Given the description of an element on the screen output the (x, y) to click on. 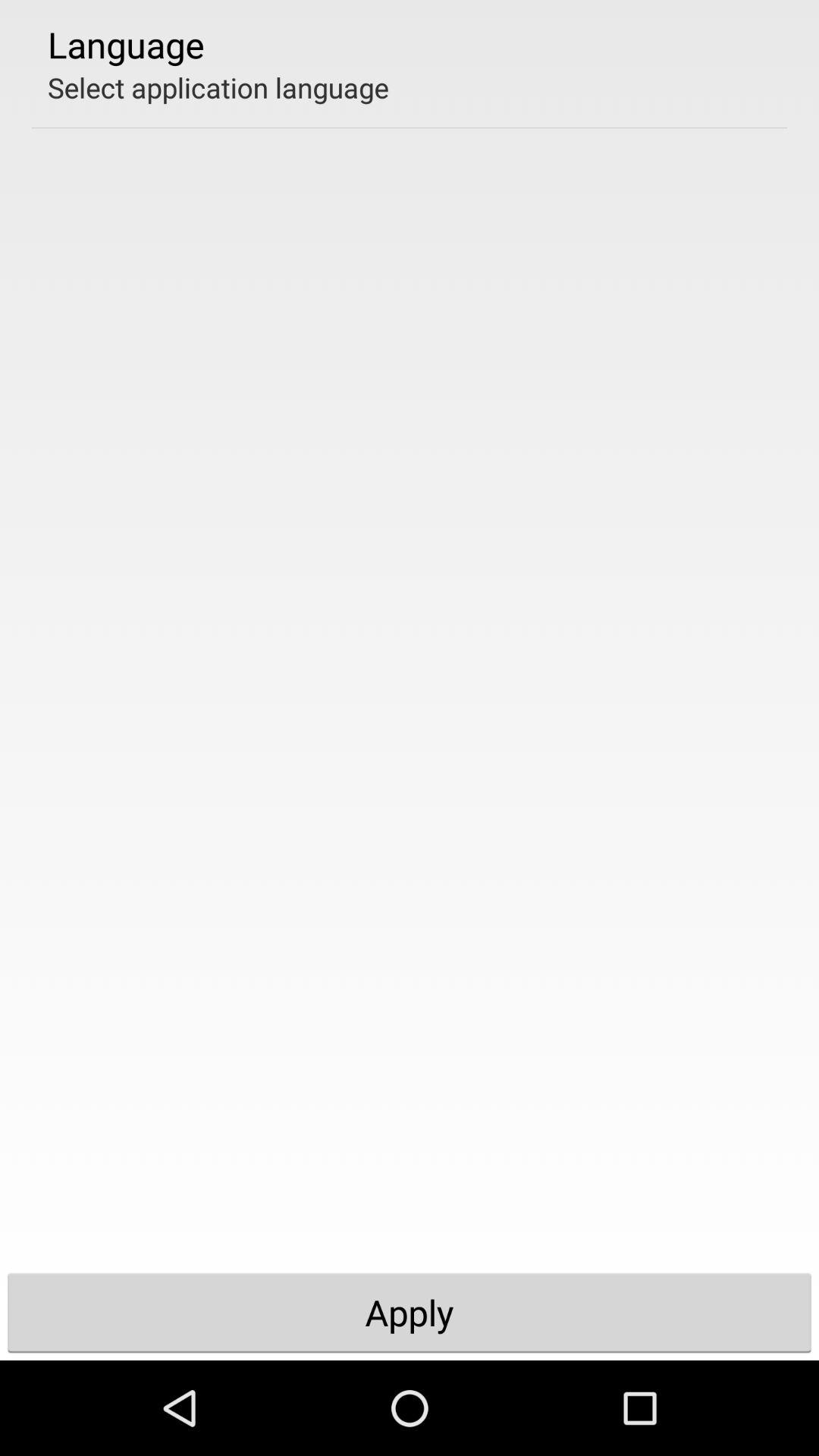
click select application language icon (218, 87)
